Given the description of an element on the screen output the (x, y) to click on. 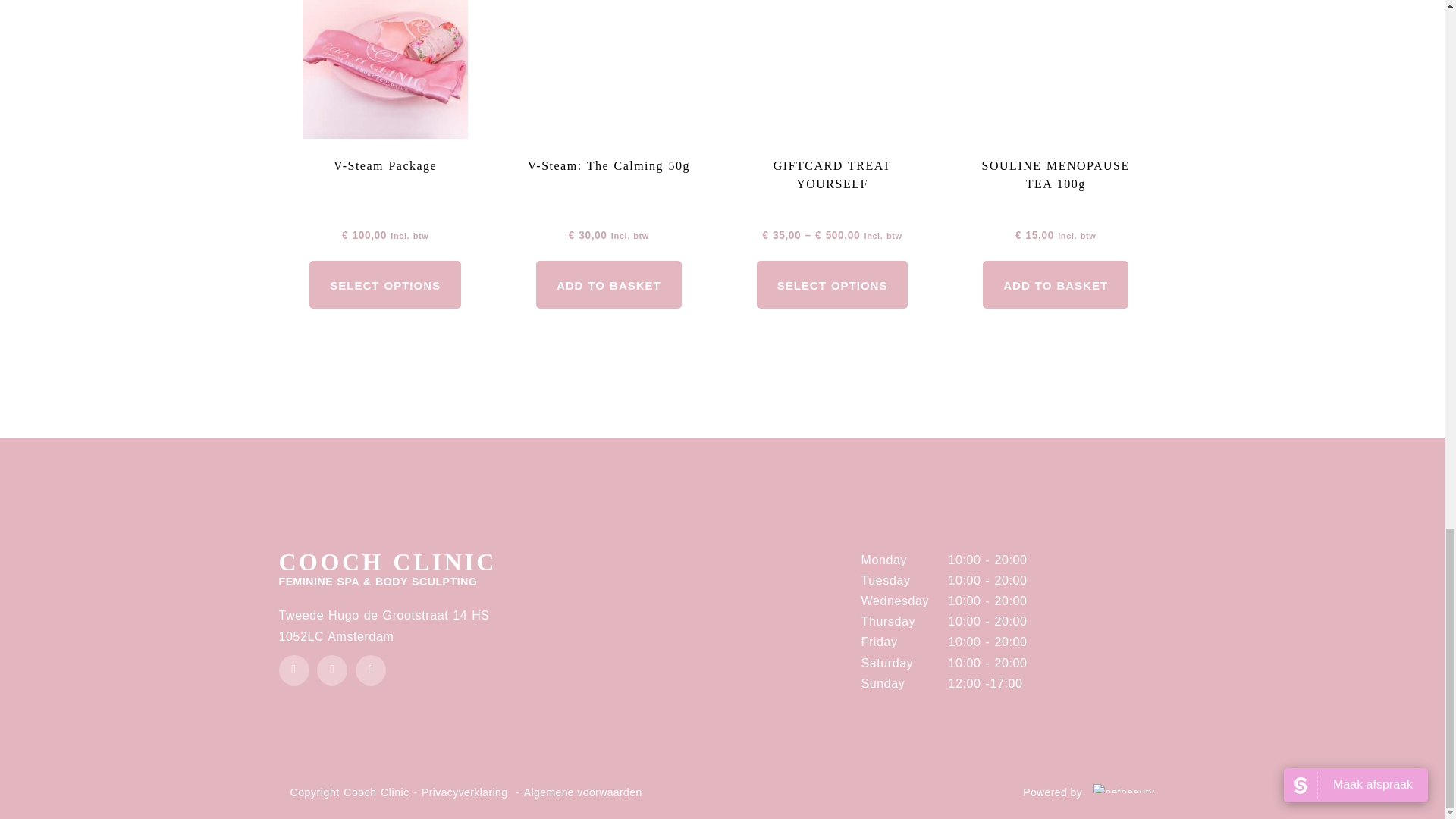
Powered by (1088, 792)
Email (370, 670)
Algemene voorwaarden (583, 792)
SELECT OPTIONS (384, 284)
Telefoon (332, 670)
ADD TO BASKET (608, 284)
SELECT OPTIONS (832, 284)
ADD TO BASKET (1055, 284)
Instagram (293, 670)
Privacyverklaring (464, 792)
